Given the description of an element on the screen output the (x, y) to click on. 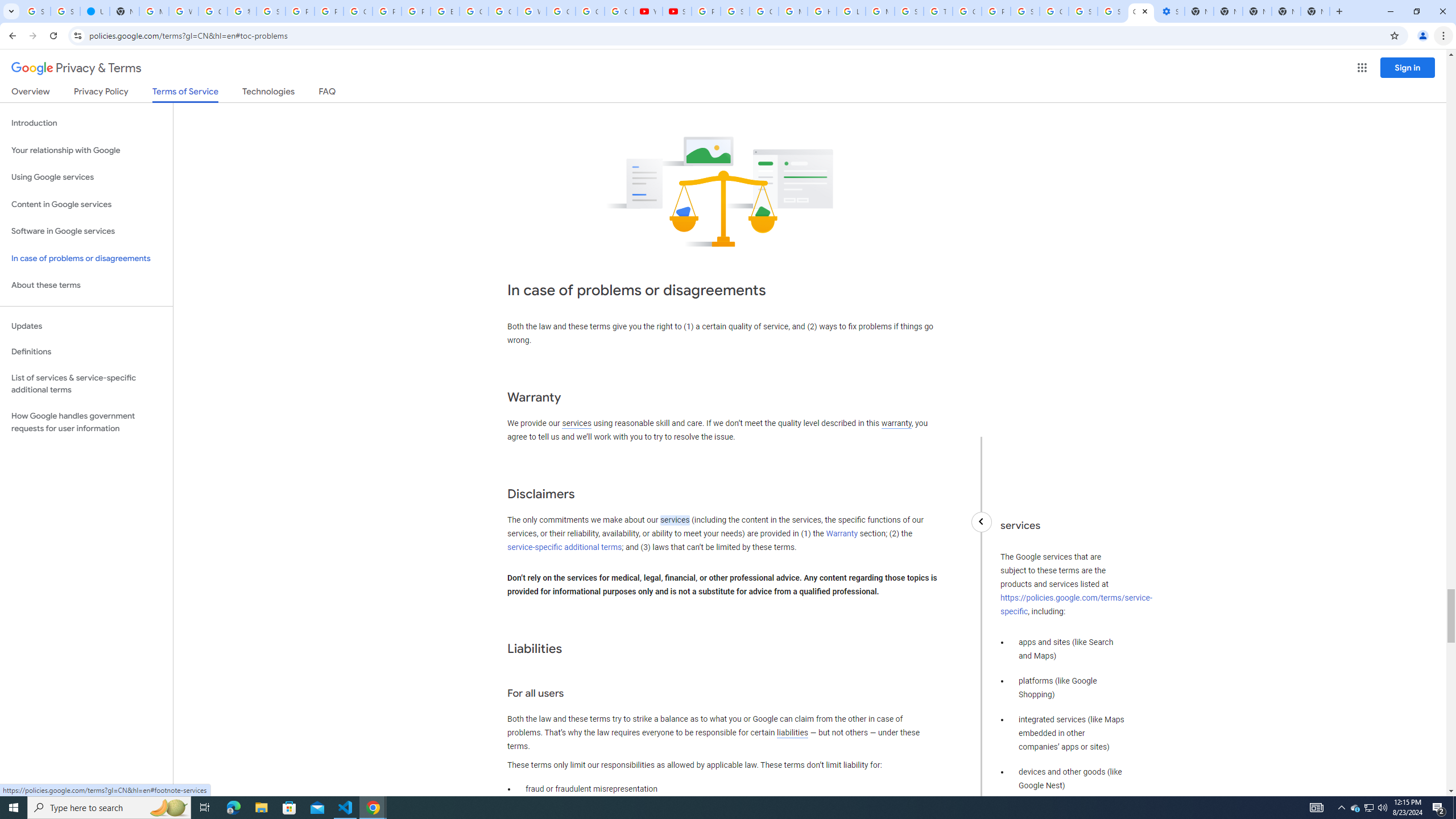
warranty (895, 423)
Search our Doodle Library Collection - Google Doodles (908, 11)
Sign in - Google Accounts (1025, 11)
Sign in - Google Accounts (1082, 11)
Subscriptions - YouTube (677, 11)
liabilities (792, 732)
Definitions (86, 352)
Using Google services (86, 176)
